Given the description of an element on the screen output the (x, y) to click on. 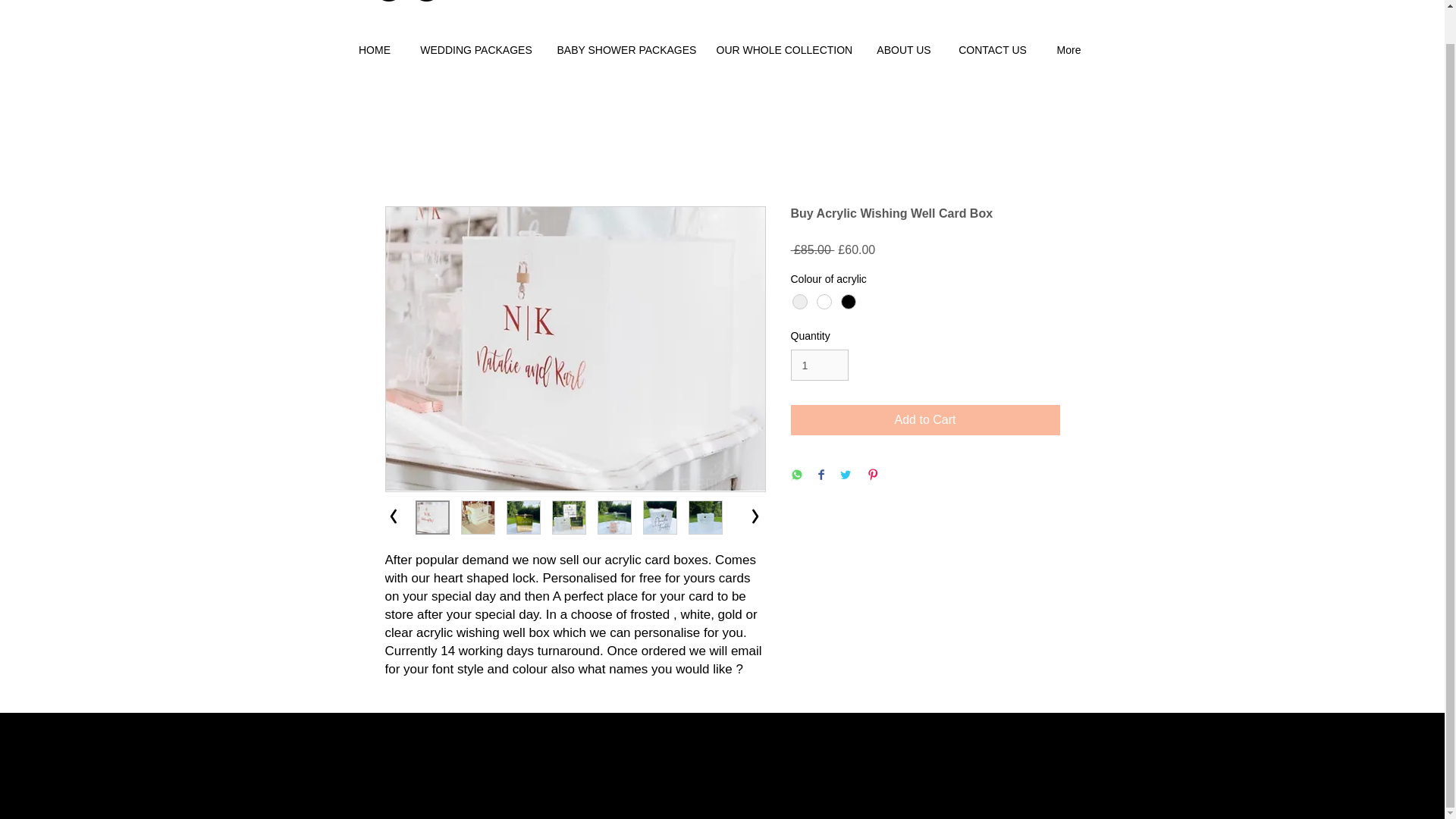
WEDDING PACKAGES (475, 49)
OUR WHOLE COLLECTION (783, 49)
1 (818, 364)
Add to Cart (924, 419)
HOME (374, 49)
BABY SHOWER PACKAGES (625, 49)
ABOUT US (903, 49)
CONTACT US (992, 49)
